Given the description of an element on the screen output the (x, y) to click on. 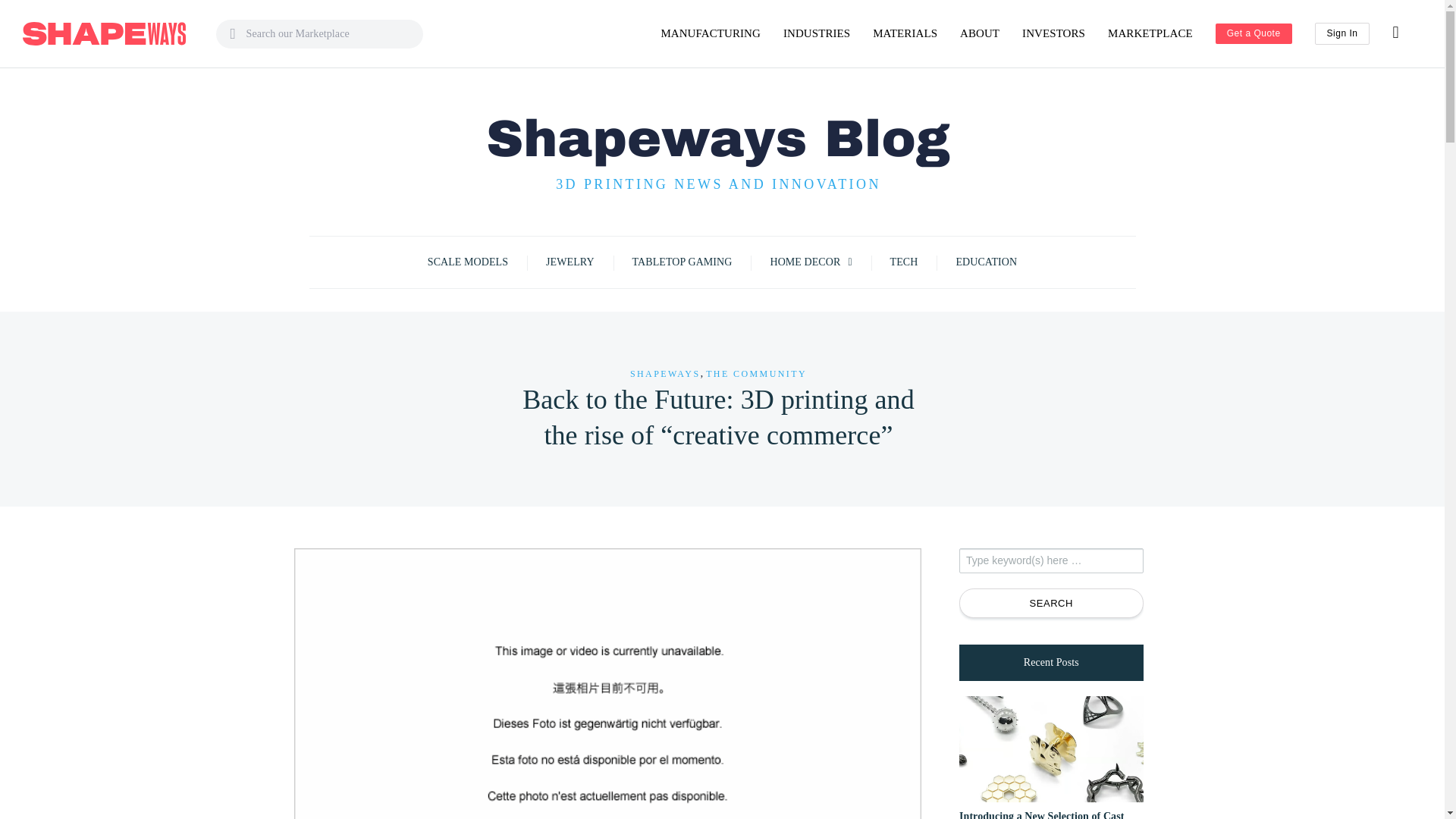
Search (1050, 603)
